Given the description of an element on the screen output the (x, y) to click on. 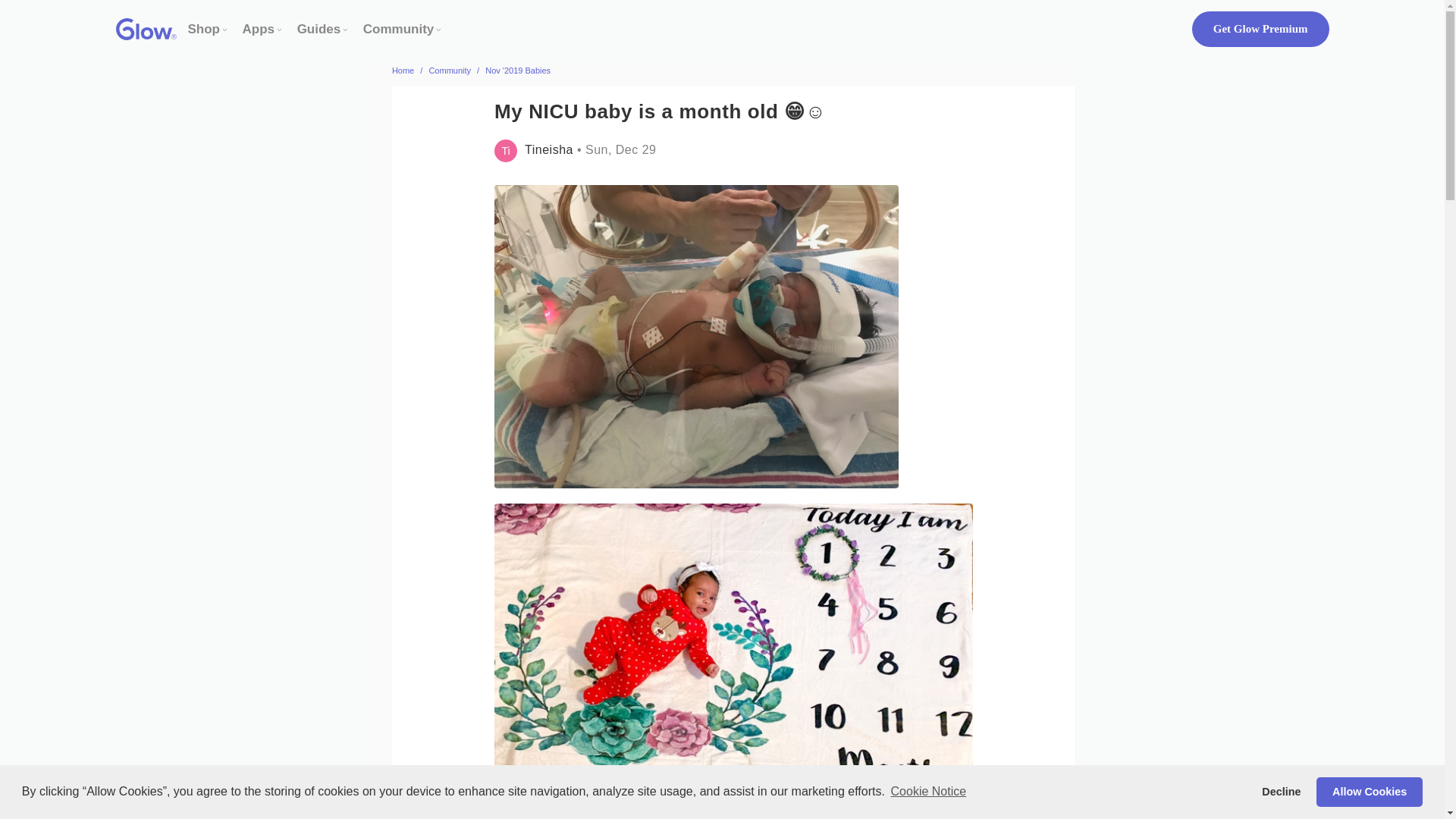
Allow Cookies (1369, 791)
Cookie Notice (928, 791)
Decline (1281, 791)
Apps (259, 28)
Glow Shop (204, 28)
Glow Community (397, 28)
Shop (204, 28)
Guides (318, 28)
